Given the description of an element on the screen output the (x, y) to click on. 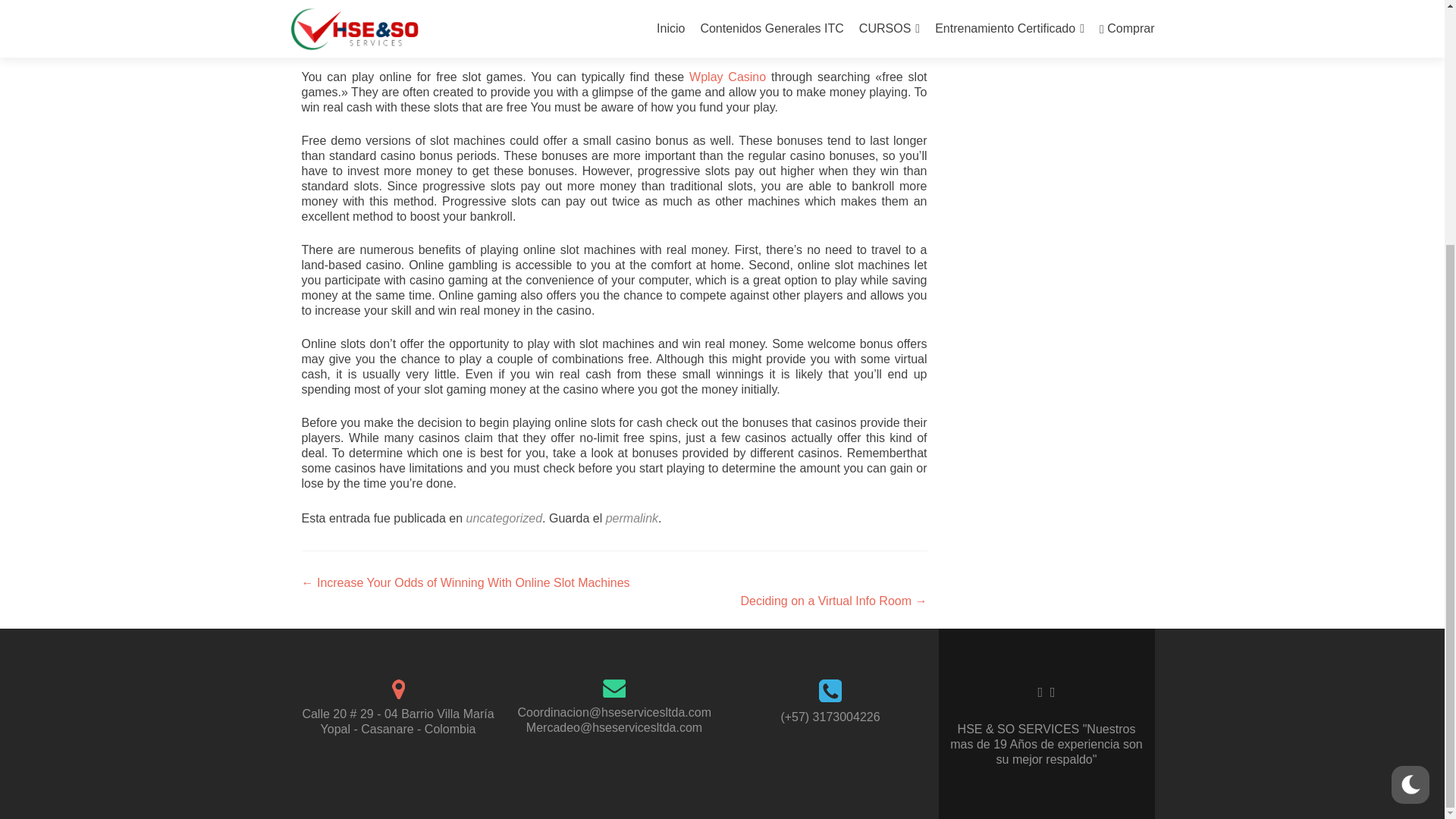
permalink (631, 517)
Wplay Casino (726, 76)
uncategorized (504, 517)
